Given the description of an element on the screen output the (x, y) to click on. 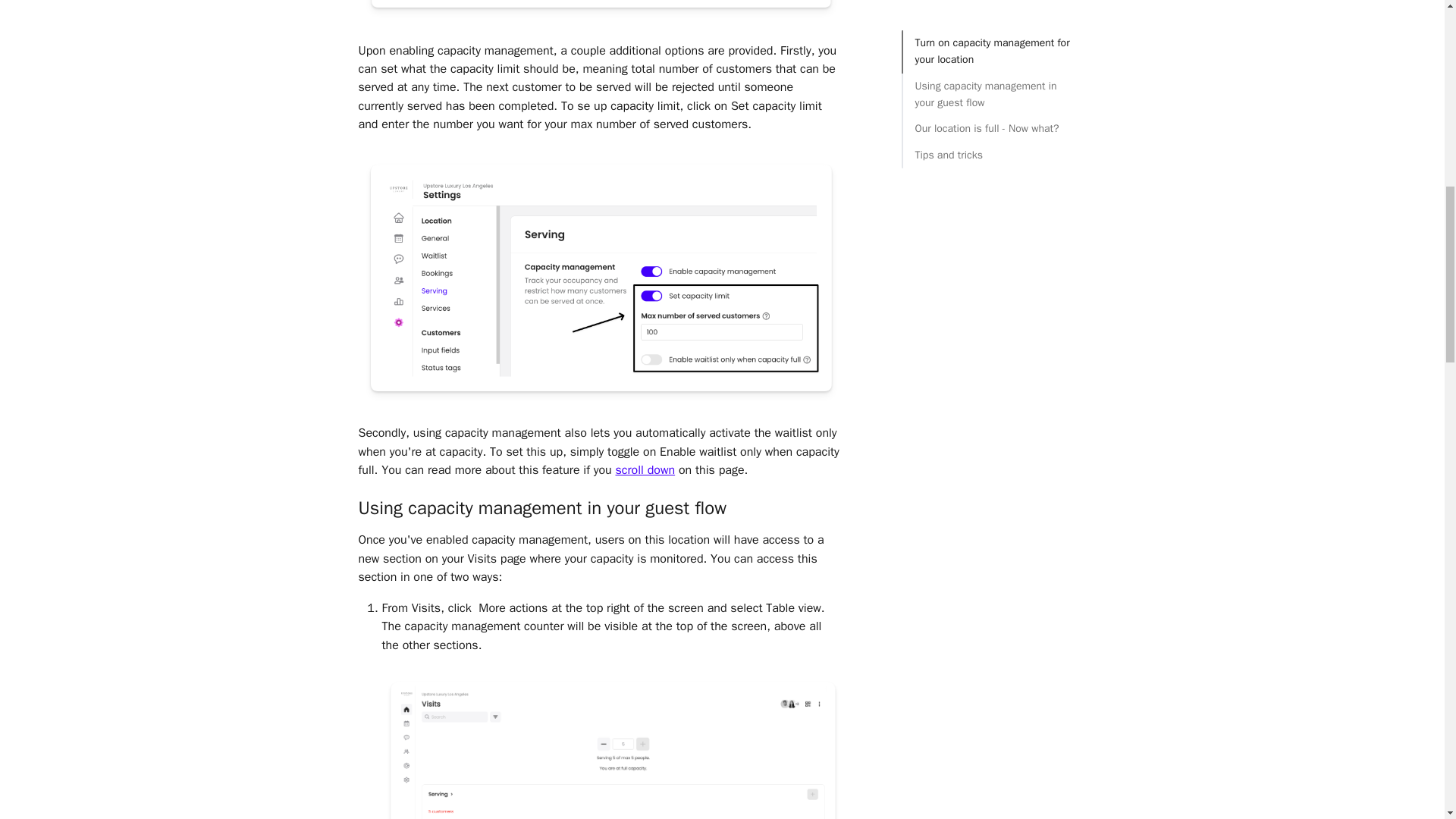
scroll down (645, 469)
